Given the description of an element on the screen output the (x, y) to click on. 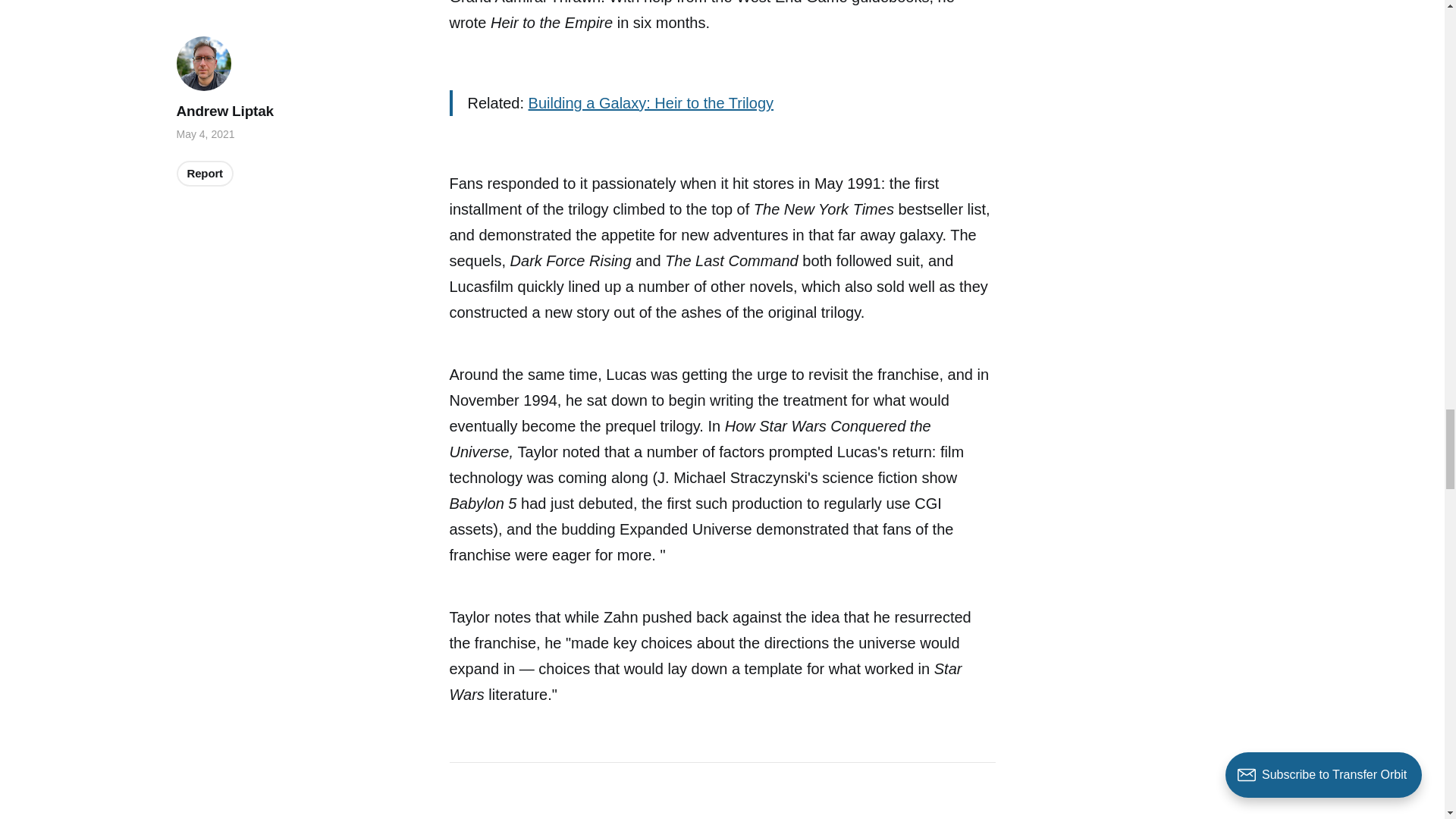
Building a Galaxy: Heir to the Trilogy (651, 103)
